Given the description of an element on the screen output the (x, y) to click on. 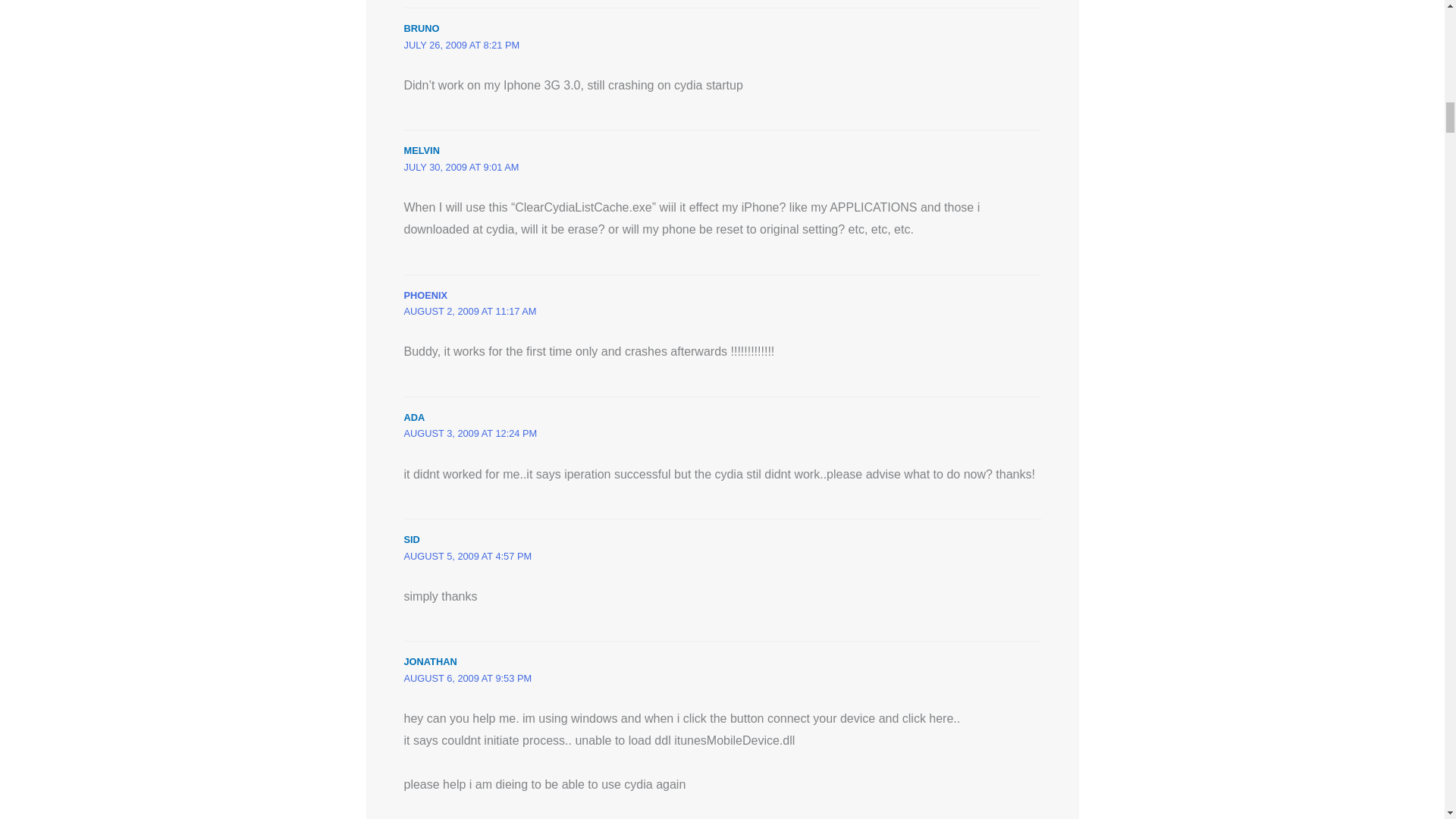
AUGUST 5, 2009 AT 4:57 PM (467, 555)
AUGUST 3, 2009 AT 12:24 PM (470, 432)
AUGUST 2, 2009 AT 11:17 AM (469, 310)
PHOENIX (424, 295)
JULY 30, 2009 AT 9:01 AM (460, 166)
JULY 26, 2009 AT 8:21 PM (461, 44)
AUGUST 6, 2009 AT 9:53 PM (467, 677)
